Given the description of an element on the screen output the (x, y) to click on. 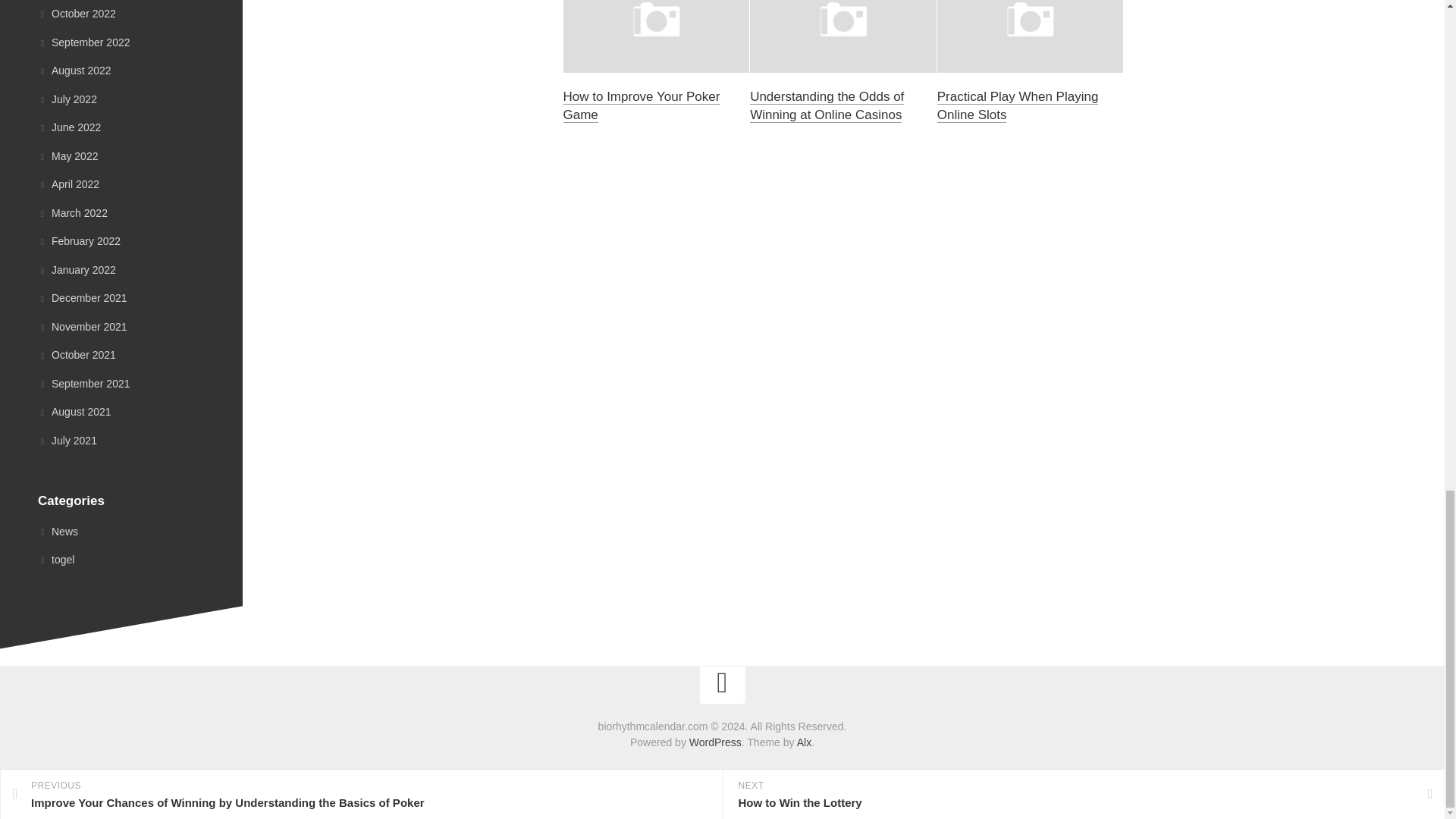
Understanding the Odds of Winning at Online Casinos (826, 105)
Practical Play When Playing Online Slots (1018, 105)
How to Improve Your Poker Game (640, 105)
